Given the description of an element on the screen output the (x, y) to click on. 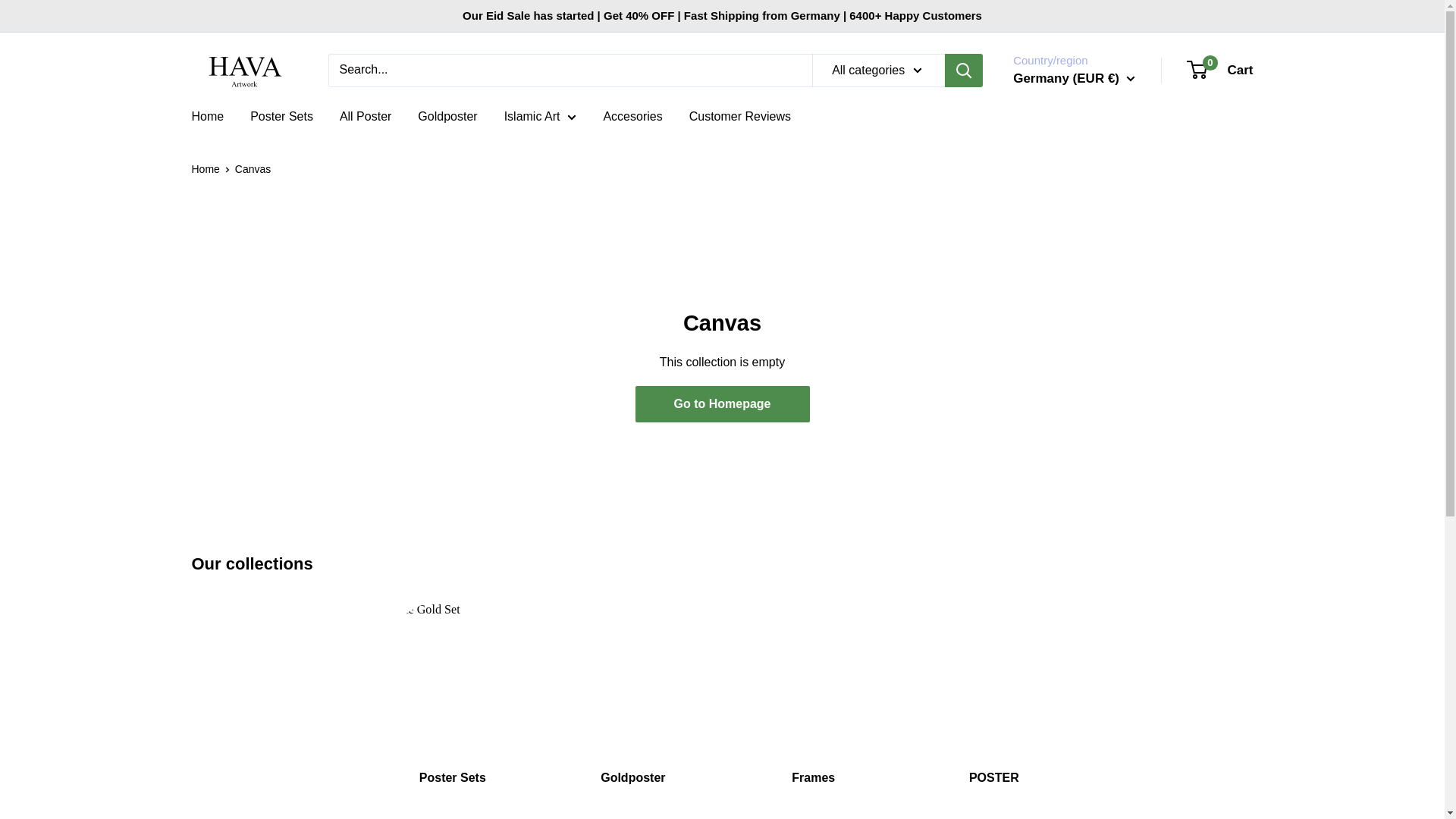
Goldposter (447, 116)
DE (1077, 221)
NL (1077, 243)
Home (207, 116)
SE (1077, 290)
All Poster (365, 116)
FR (1220, 70)
BE (1077, 197)
DK (1077, 151)
ES (1077, 175)
GB (1077, 267)
Islamic Art (1077, 313)
HAVA-EU Artwork (539, 116)
